Given the description of an element on the screen output the (x, y) to click on. 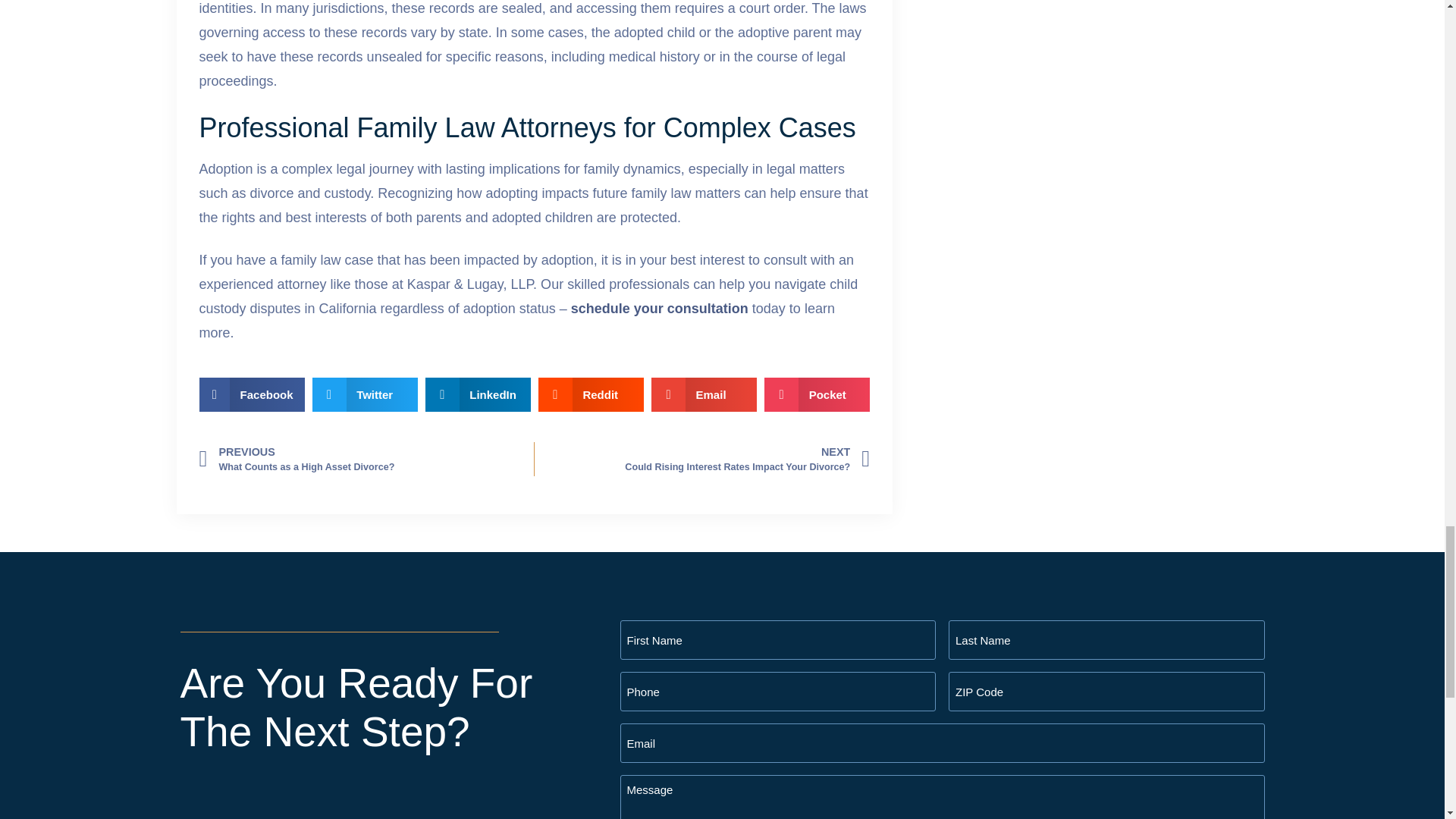
schedule your consultation (709, 458)
